Given the description of an element on the screen output the (x, y) to click on. 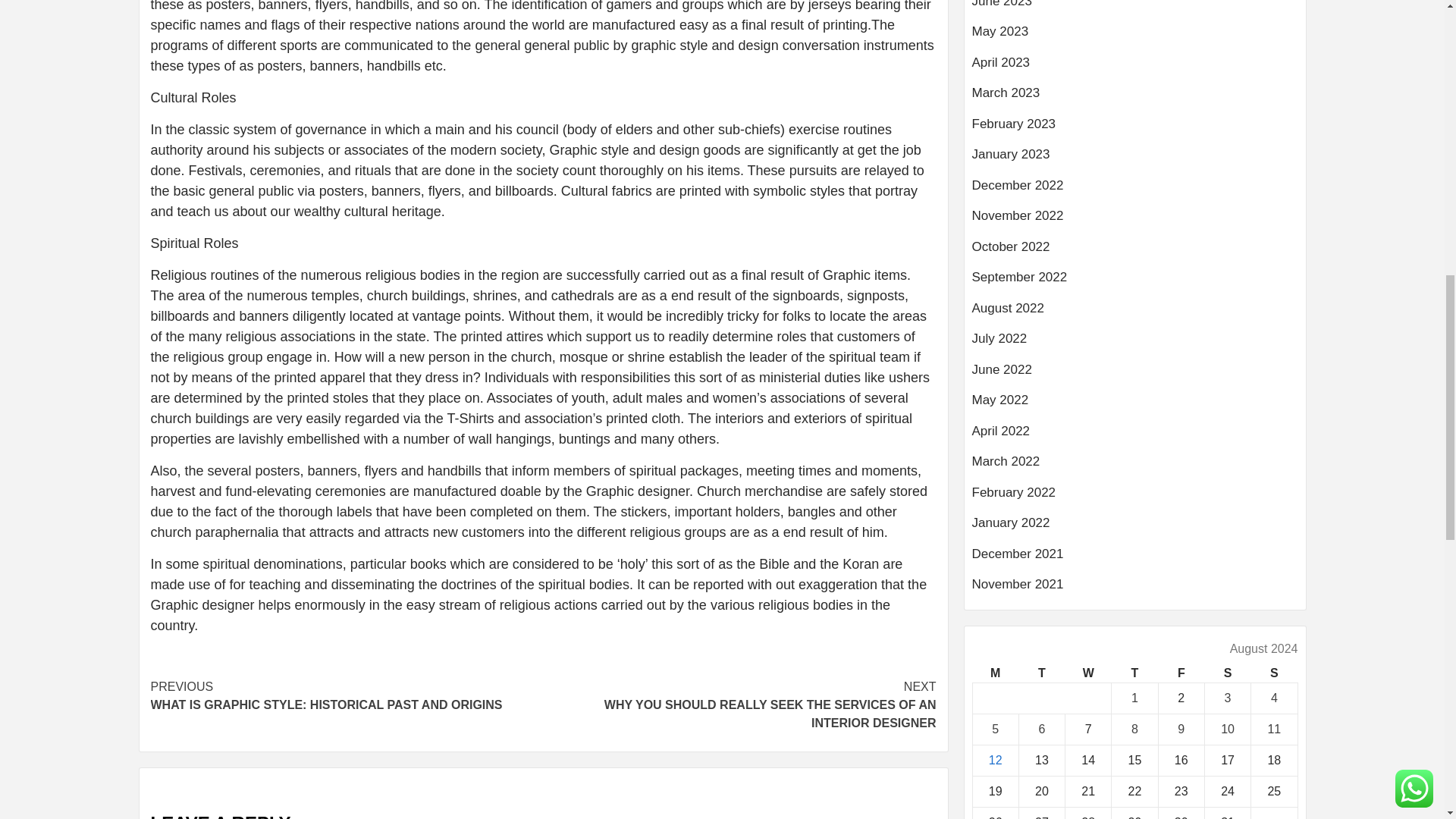
Tuesday (1040, 673)
Saturday (1227, 673)
June 2023 (1135, 11)
Friday (1180, 673)
Thursday (1134, 673)
Sunday (1273, 673)
May 2023 (1135, 37)
Monday (994, 673)
